Given the description of an element on the screen output the (x, y) to click on. 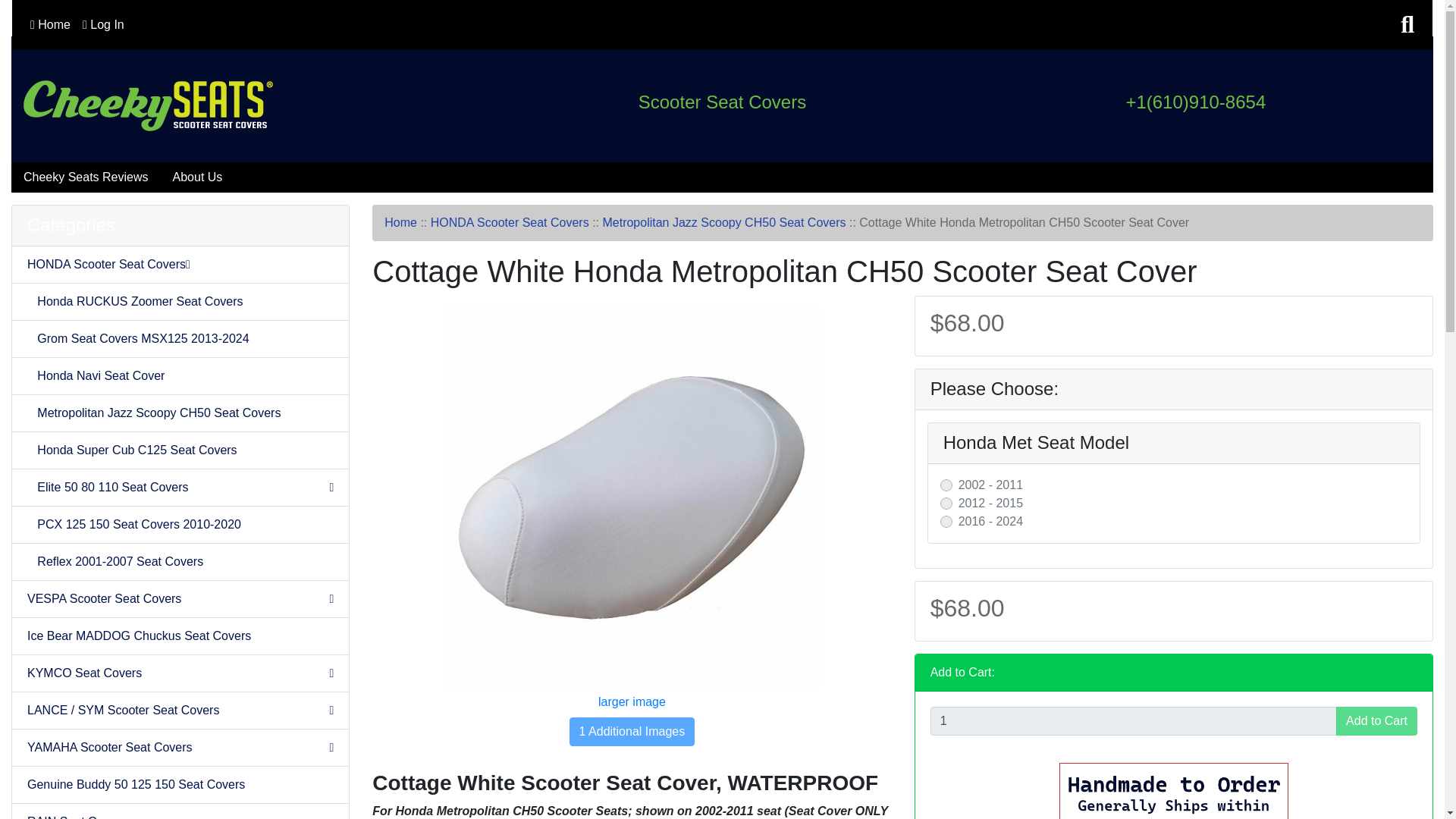
   PCX 125 150 Seat Covers 2010-2020 (180, 524)
   Honda Super Cub C125 Seat Covers (180, 450)
Log In (104, 24)
   Reflex 2001-2007 Seat Covers (180, 561)
   Honda Navi Seat Cover (180, 375)
Home (50, 24)
About Us (197, 177)
Cheeky Seats Reviews (85, 177)
   Elite 50 80 110 Seat Covers (180, 487)
1 (1133, 720)
HONDA Scooter Seat Covers (180, 264)
   Honda RUCKUS Zoomer Seat Covers (180, 302)
   Metropolitan Jazz Scoopy CH50 Seat Covers (180, 413)
Cheeky Seats (148, 104)
